Given the description of an element on the screen output the (x, y) to click on. 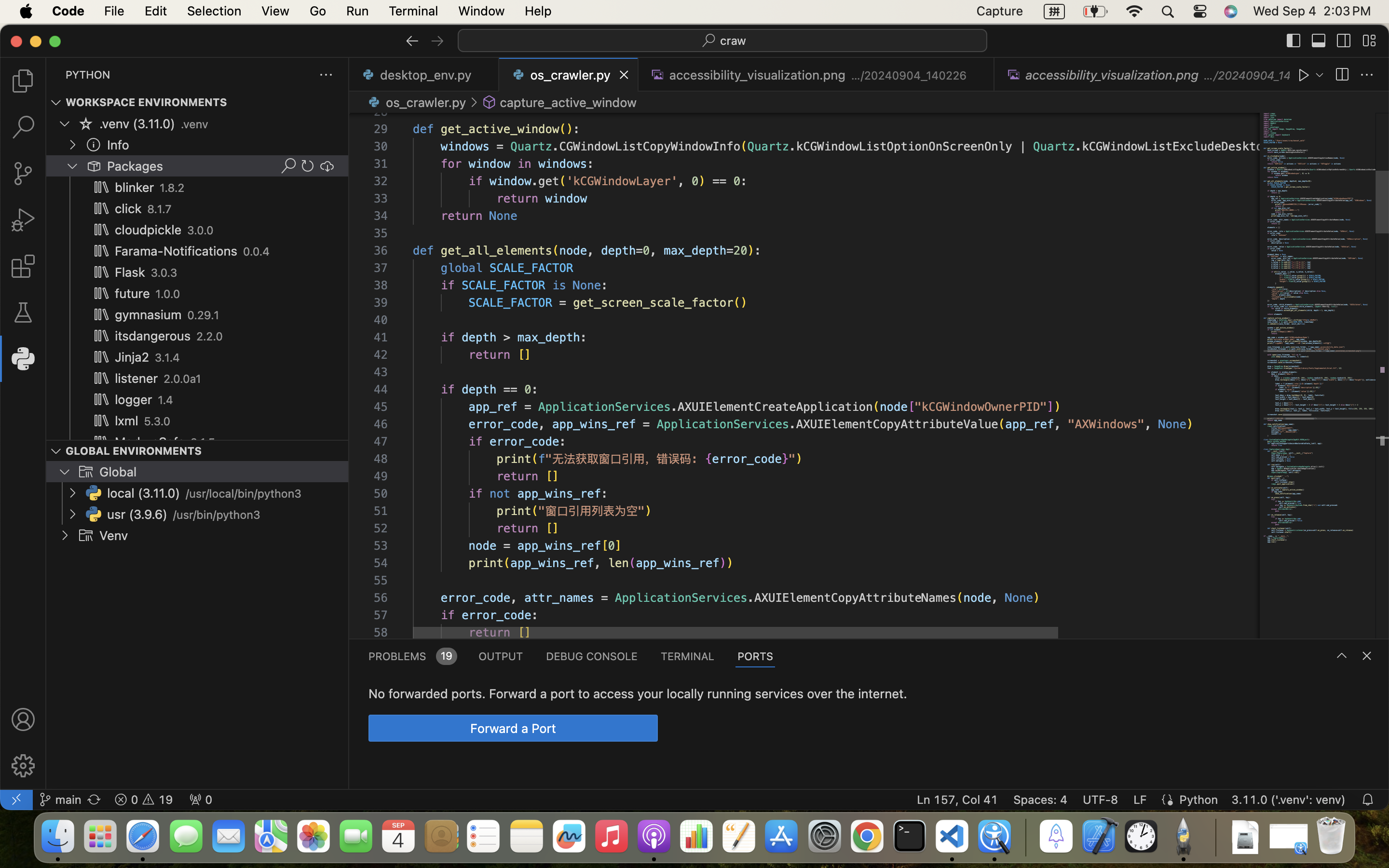
 Element type: AXButton (1366, 655)
Farama-Notifications Element type: AXStaticText (176, 251)
0.29.1 Element type: AXStaticText (203, 315)
usr (3.9.6) Element type: AXStaticText (137, 514)
Packages Element type: AXStaticText (135, 166)
